Given the description of an element on the screen output the (x, y) to click on. 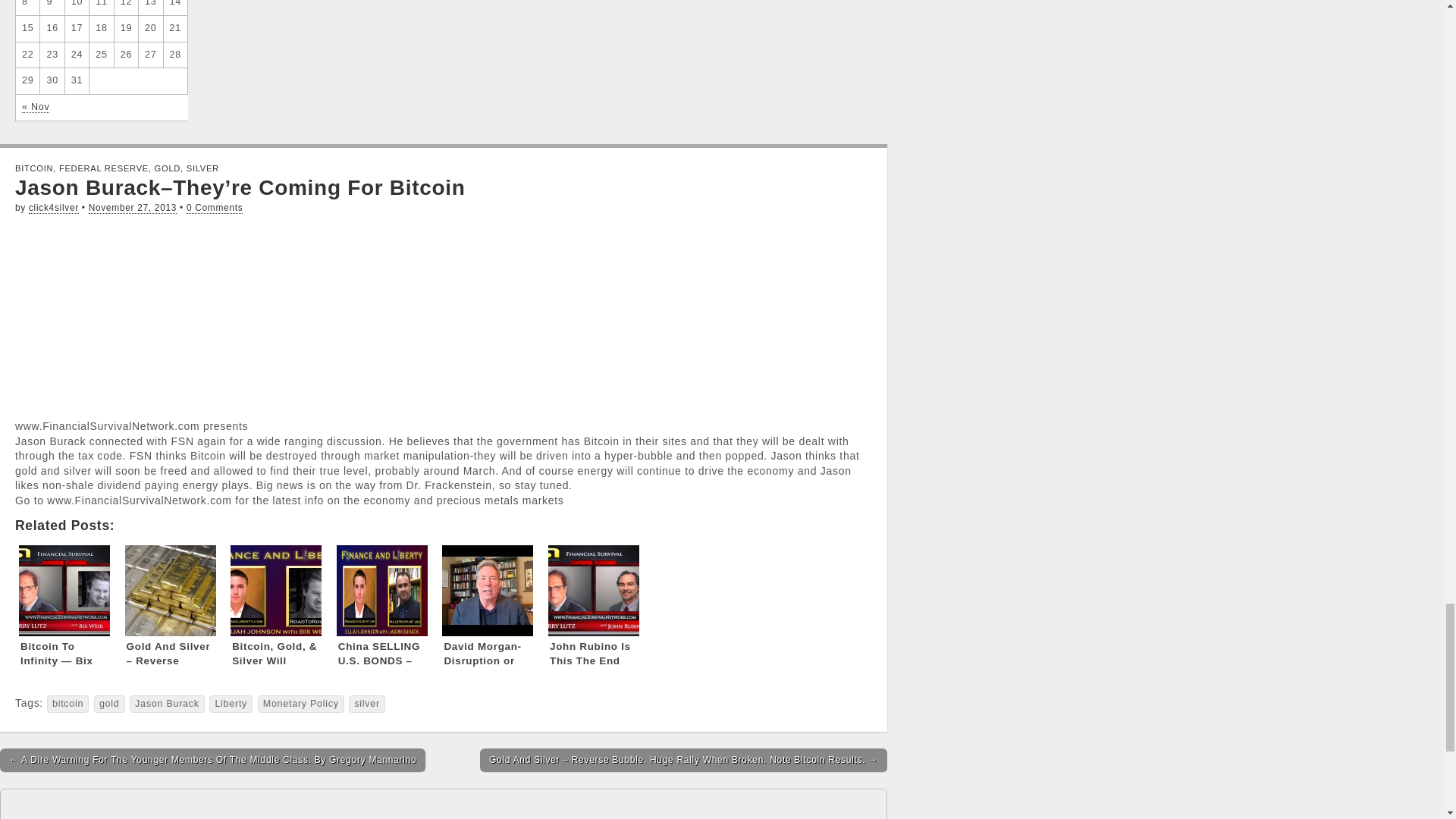
Posts by click4silver (53, 207)
